Given the description of an element on the screen output the (x, y) to click on. 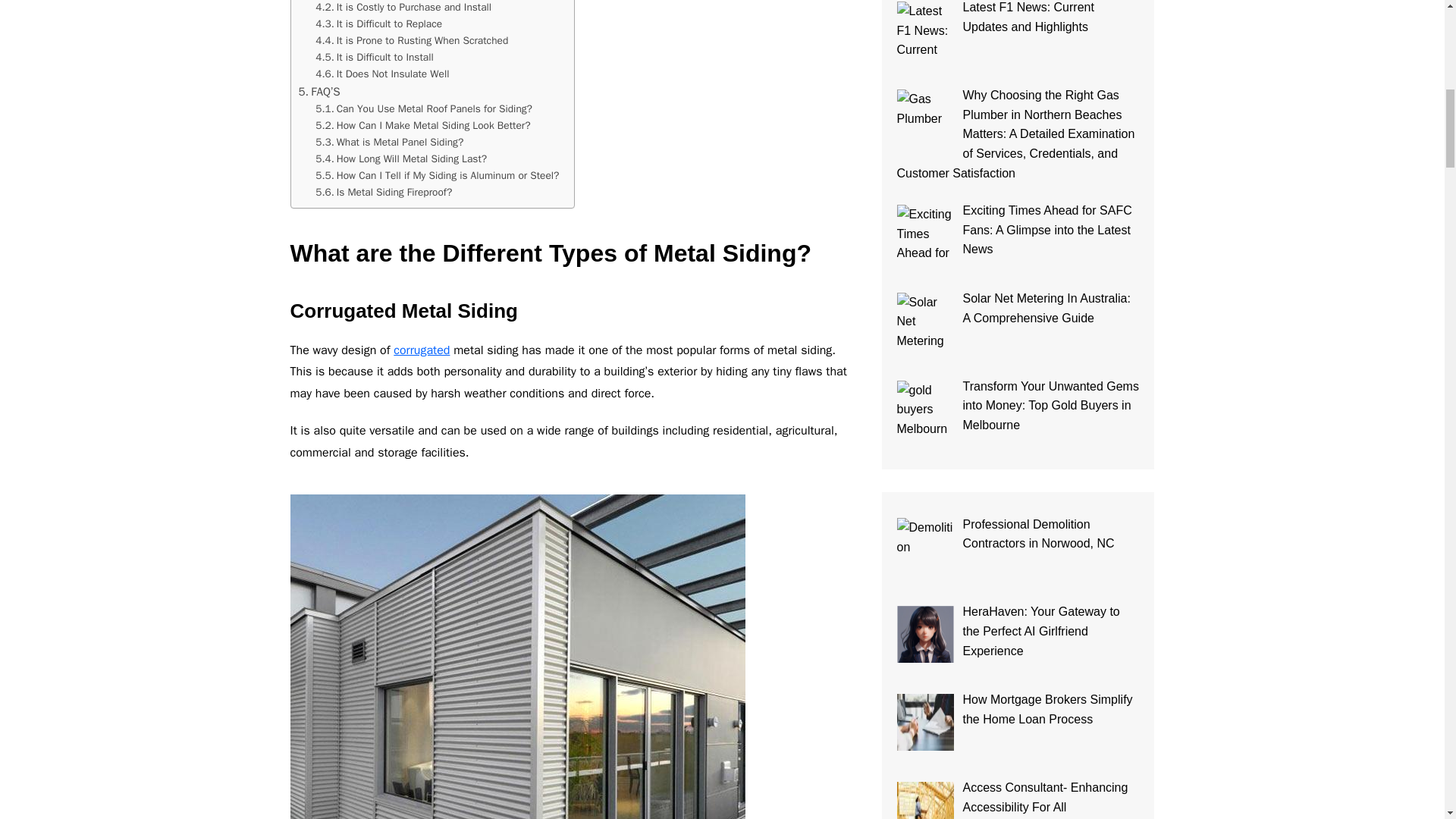
It is Costly to Purchase and Install (403, 7)
